Given the description of an element on the screen output the (x, y) to click on. 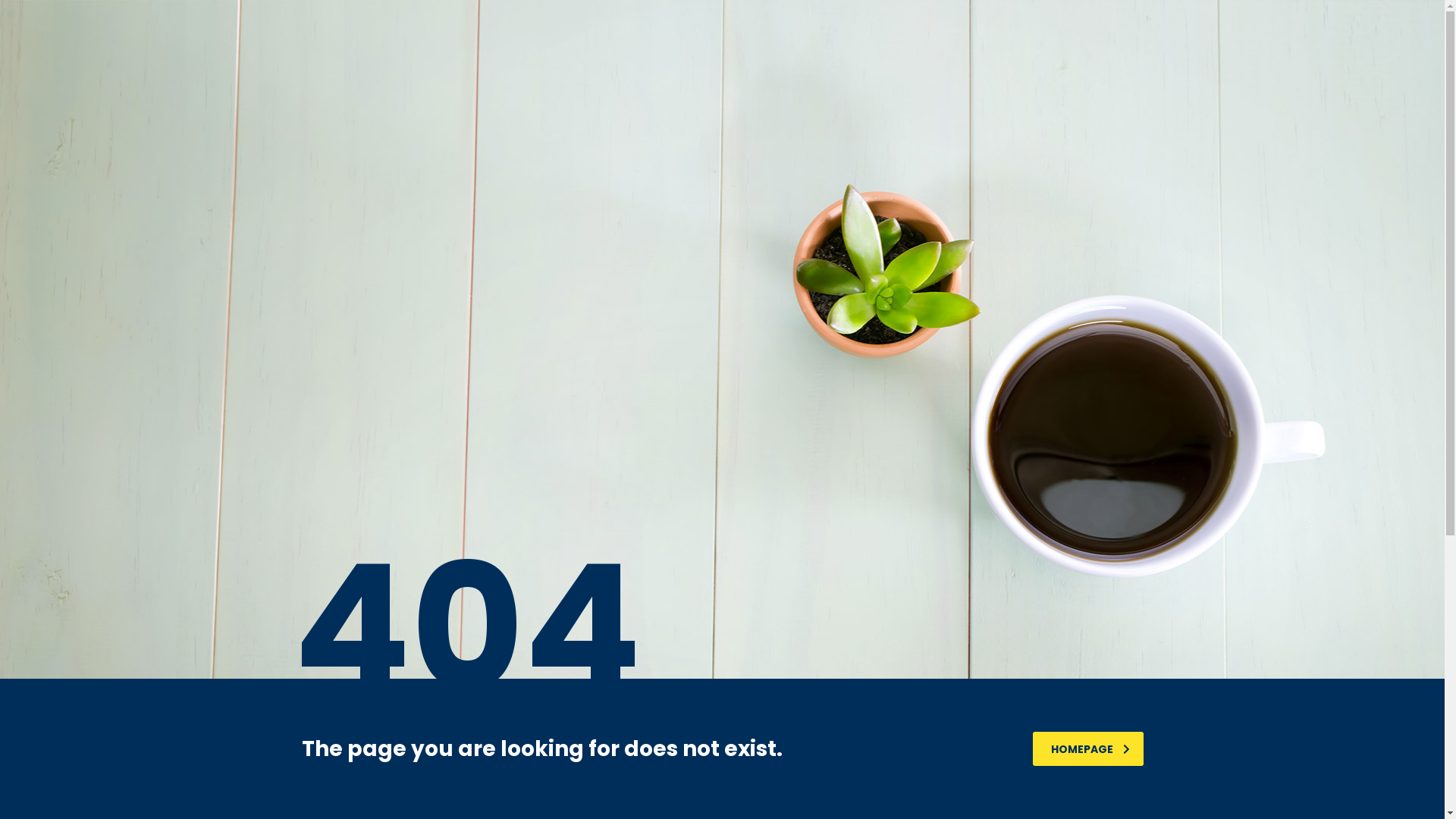
HOMEPAGE Element type: text (1087, 748)
